Given the description of an element on the screen output the (x, y) to click on. 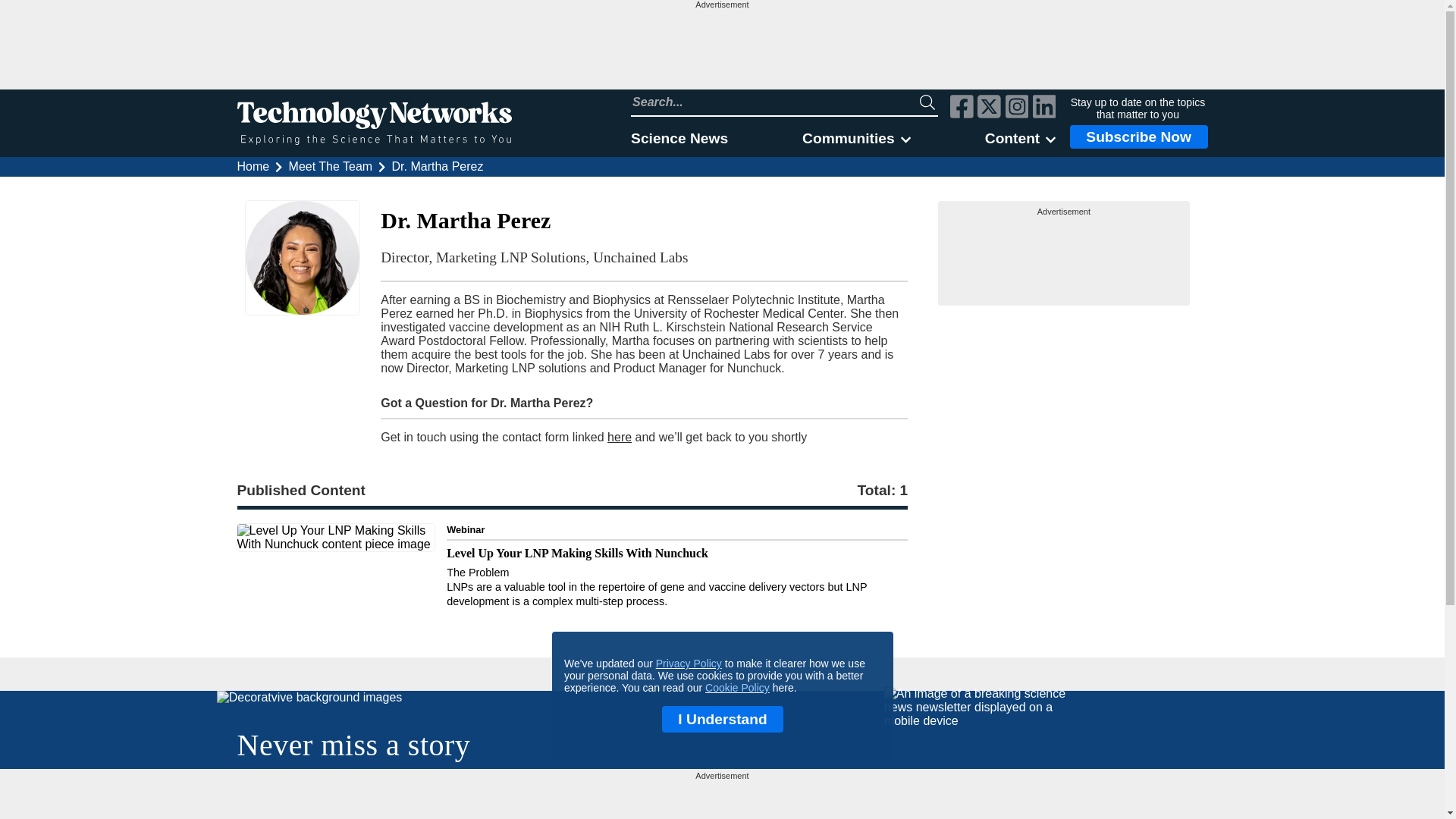
Cookie Policy (737, 687)
Link to Technology Networks' facebook page (962, 108)
Link to Technology Networks' instagram page (1017, 108)
Link to Technology Networks' twitter page (988, 108)
I Understand (722, 718)
Privacy Policy (687, 663)
Search Technology Networks website input field (775, 102)
Technology Networks logo a link to home page (373, 122)
Link to Technology Networks' linkedin page (1044, 108)
